Given the description of an element on the screen output the (x, y) to click on. 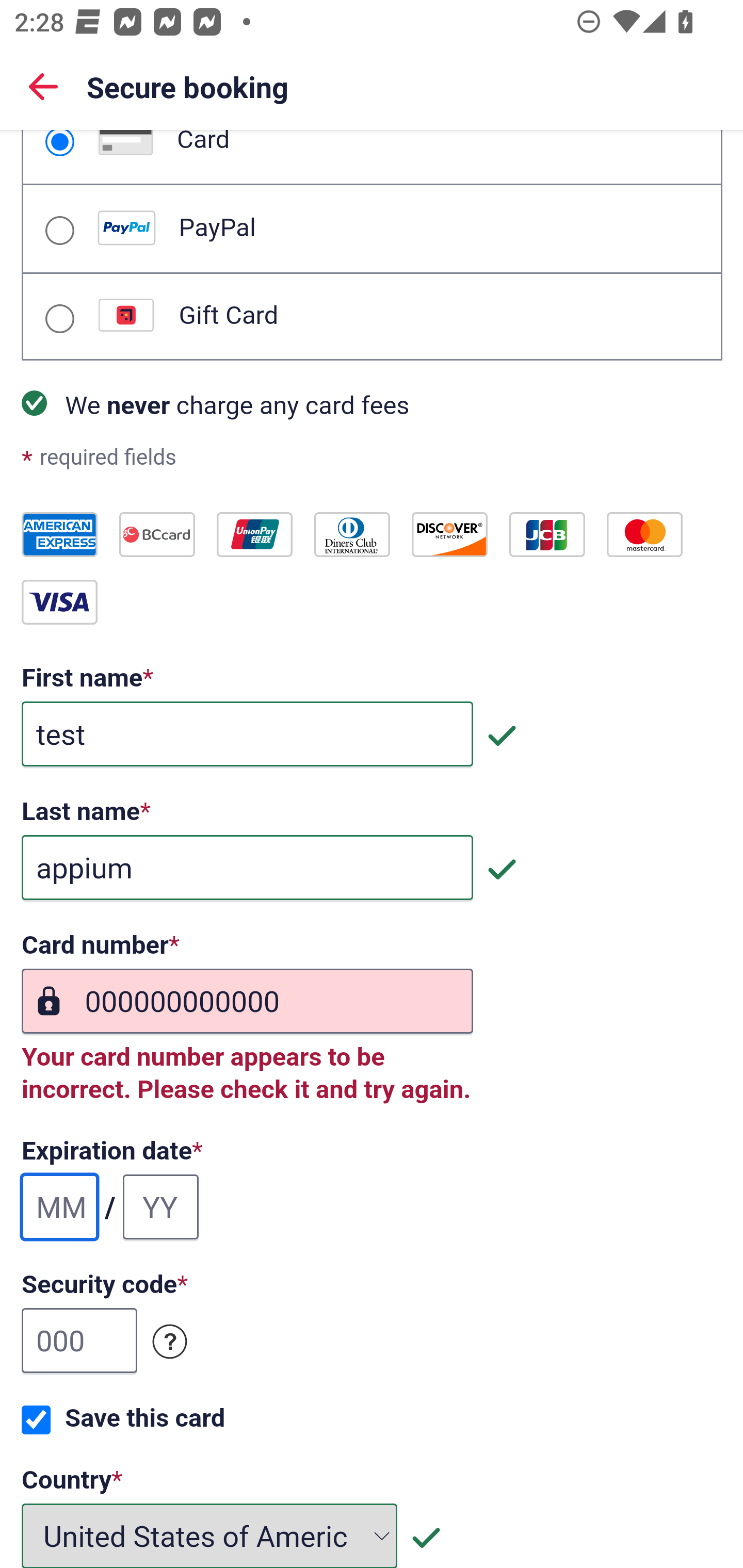
Back (43, 86)
Card (59, 143)
PayPal (59, 230)
Gift Card (59, 318)
test (247, 734)
appium (247, 868)
000000000000 (247, 1001)
Security code (170, 1342)
Save this card (36, 1420)
United States of America (209, 1535)
